Given the description of an element on the screen output the (x, y) to click on. 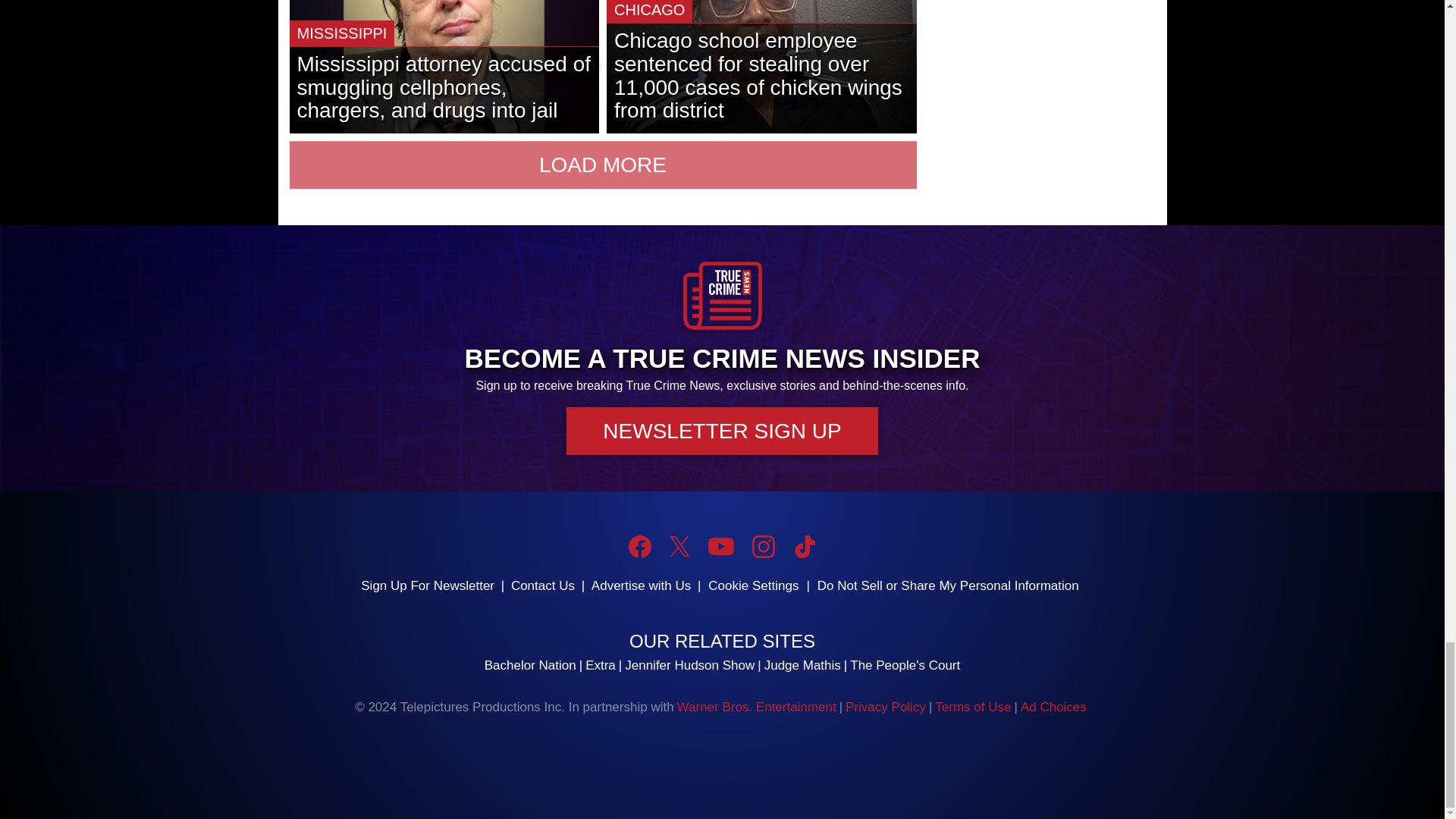
YouTube (720, 546)
Facebook (639, 546)
Instagram (763, 546)
TikTok (804, 546)
Twitter (679, 546)
